Given the description of an element on the screen output the (x, y) to click on. 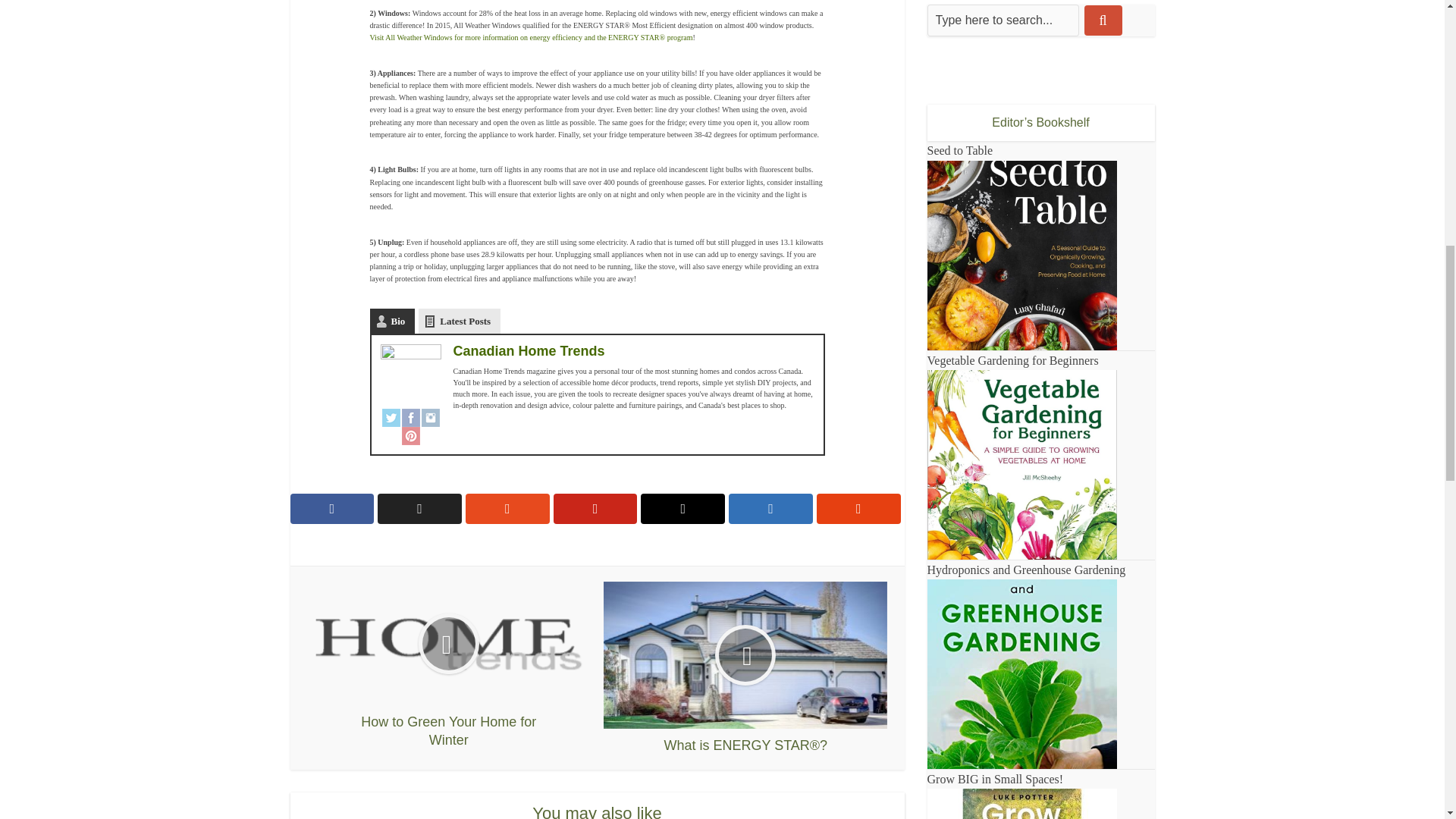
Type here to search... (1002, 20)
Pinterest (410, 435)
Type here to search... (1002, 20)
Facebook (410, 417)
Twitter (390, 417)
Instagram (430, 417)
